Given the description of an element on the screen output the (x, y) to click on. 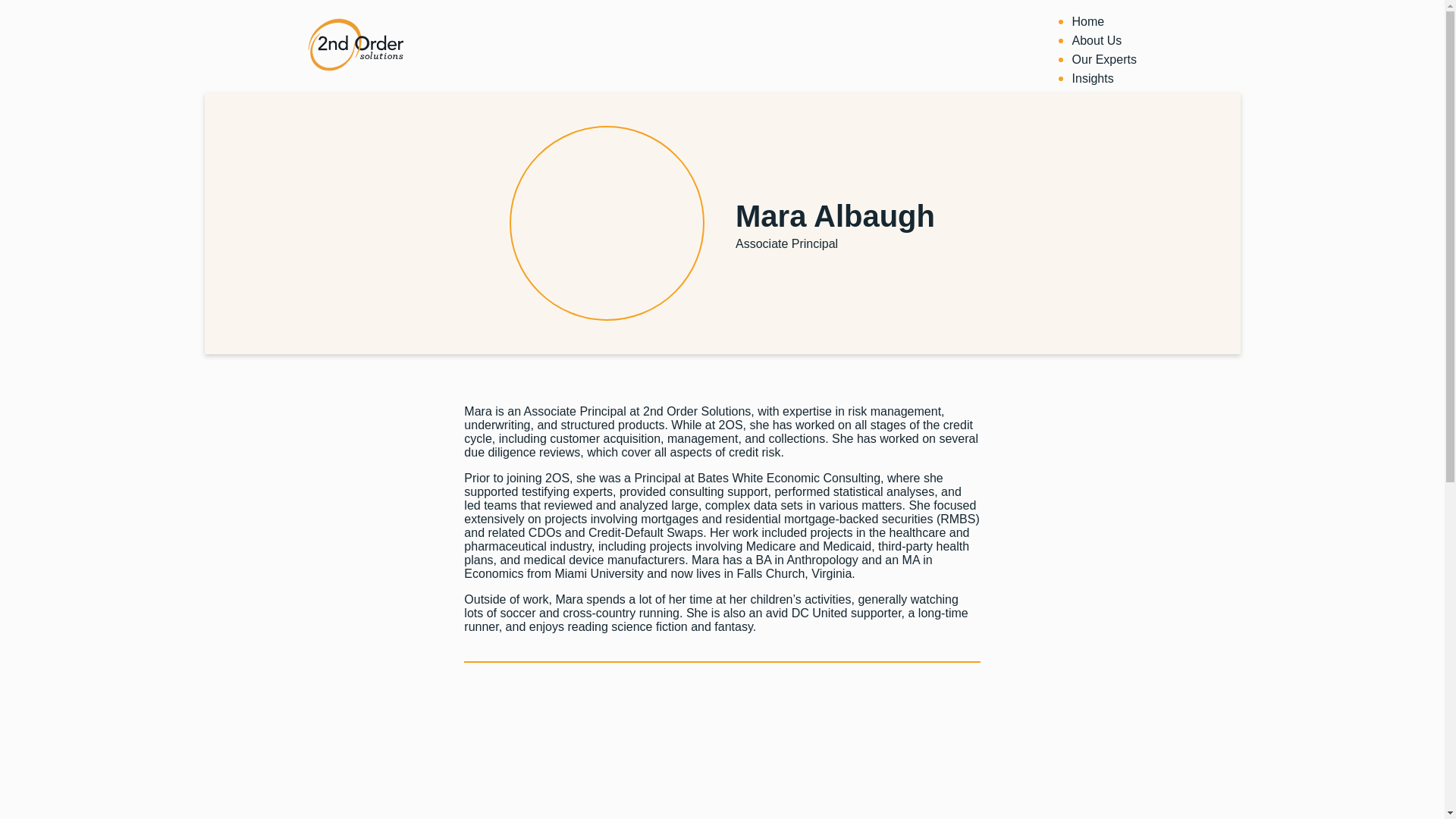
About Us Element type: text (1097, 40)
Contact Element type: text (1092, 115)
Insights Element type: text (1092, 78)
Careers Element type: text (1093, 97)
Mara Albaugh Element type: text (835, 215)
Home Element type: text (1088, 21)
Our Experts Element type: text (1104, 59)
